Given the description of an element on the screen output the (x, y) to click on. 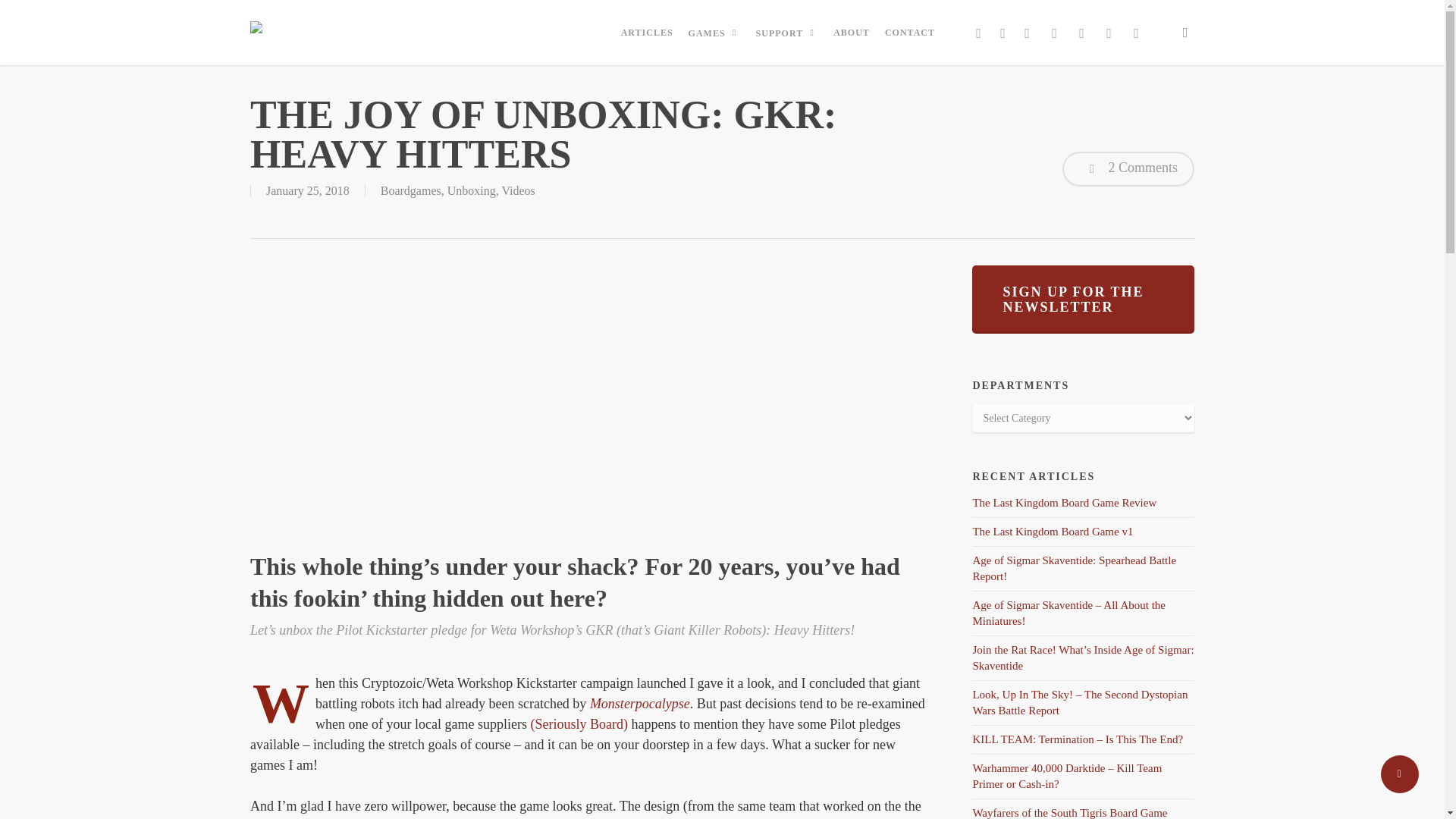
PATREON (1082, 32)
YOUTUBE (1027, 32)
search (1184, 32)
ABOUT (851, 31)
0 (1210, 39)
Boardgames (410, 190)
SUPPORT (787, 32)
THREADS (1136, 32)
CONTACT (909, 31)
ARTICLES (646, 31)
